Given the description of an element on the screen output the (x, y) to click on. 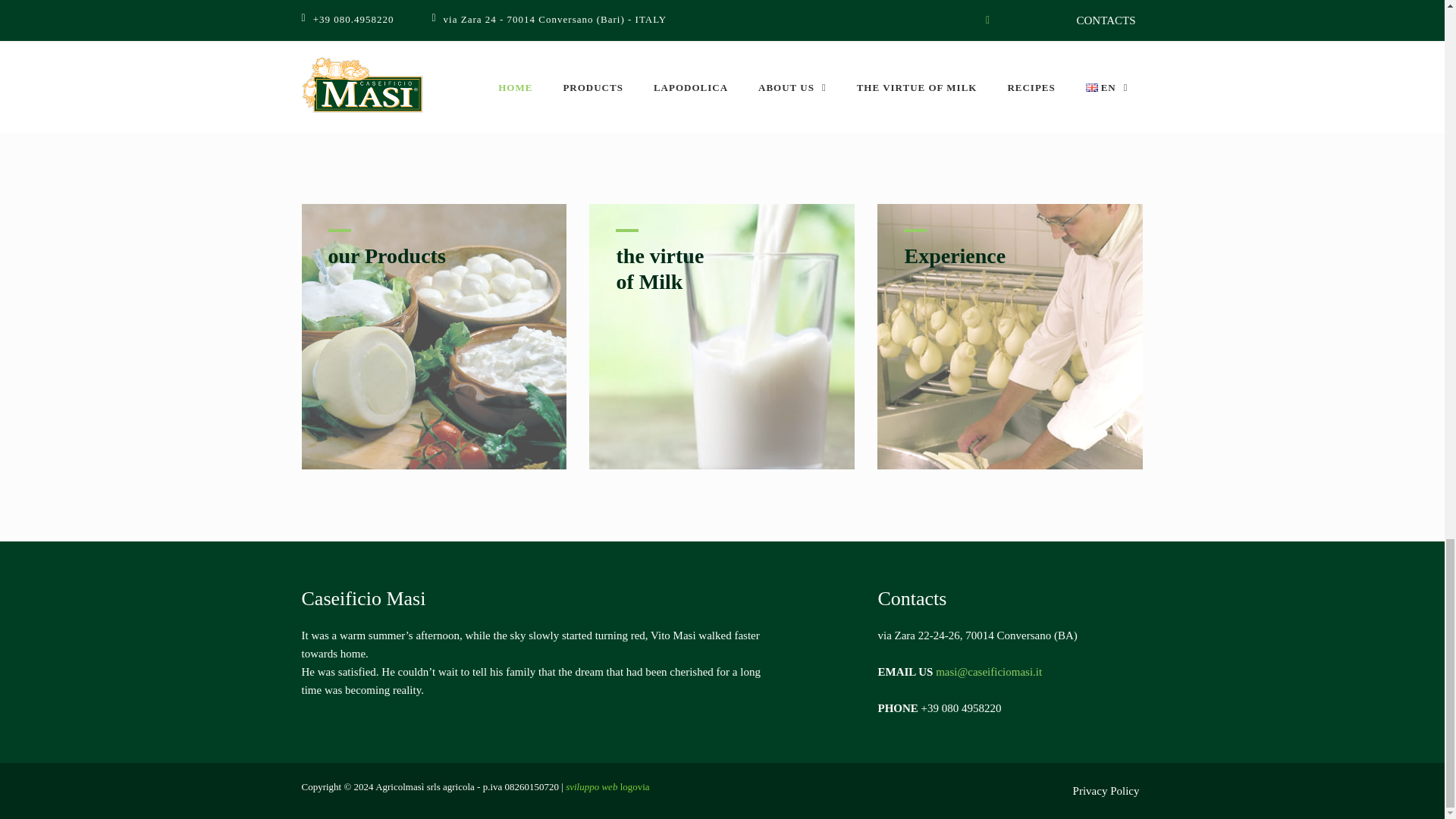
sviluppo web logovia (607, 786)
our Products (433, 257)
Experience (721, 270)
Privacy Policy (1010, 257)
